Given the description of an element on the screen output the (x, y) to click on. 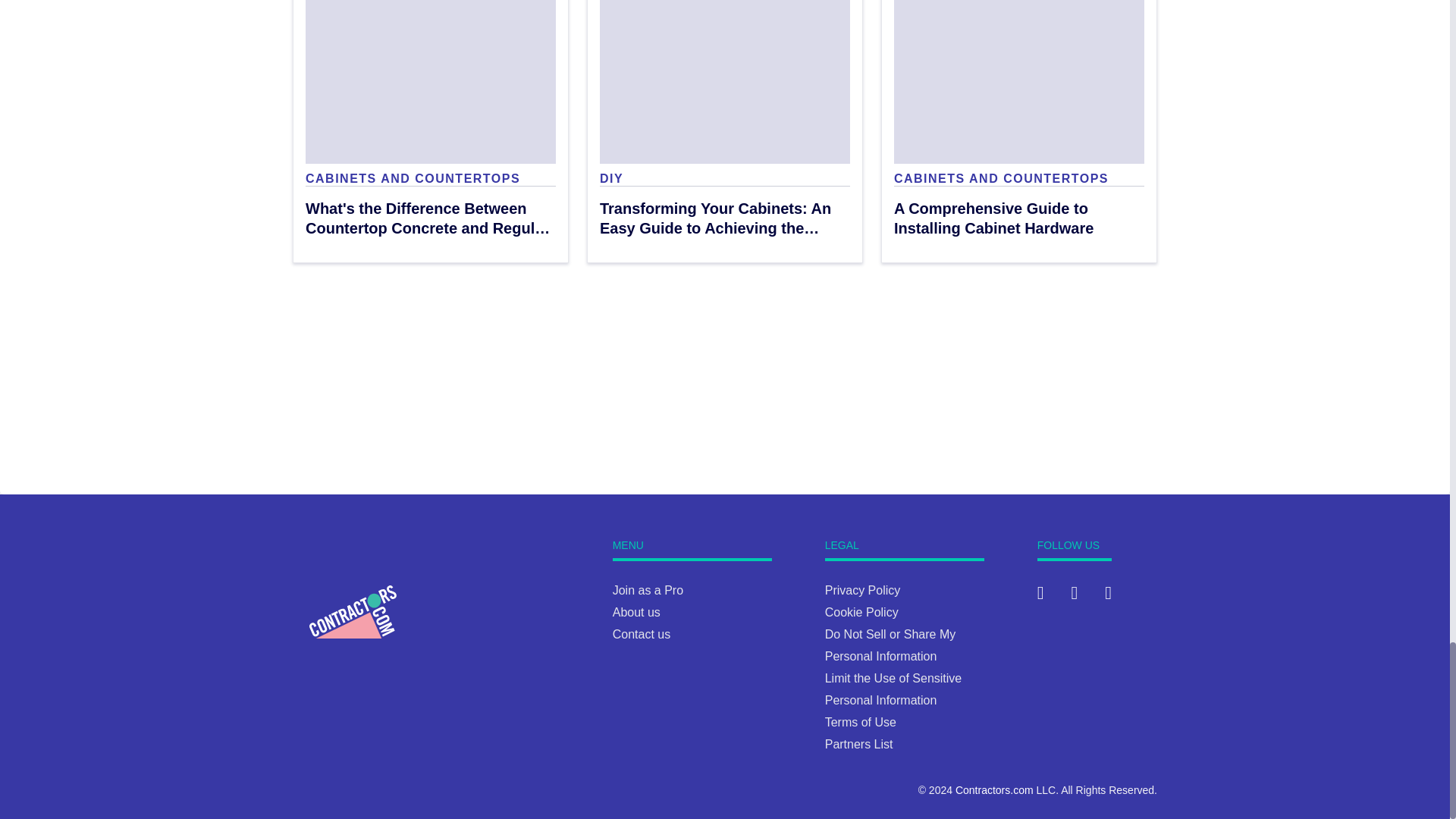
Partners List (859, 744)
Terms of Use (860, 721)
Limit the Use of Sensitive Personal Information (893, 688)
Contractors.com (994, 789)
About us (636, 612)
Contact us (640, 634)
Cookie Policy (861, 612)
